Given the description of an element on the screen output the (x, y) to click on. 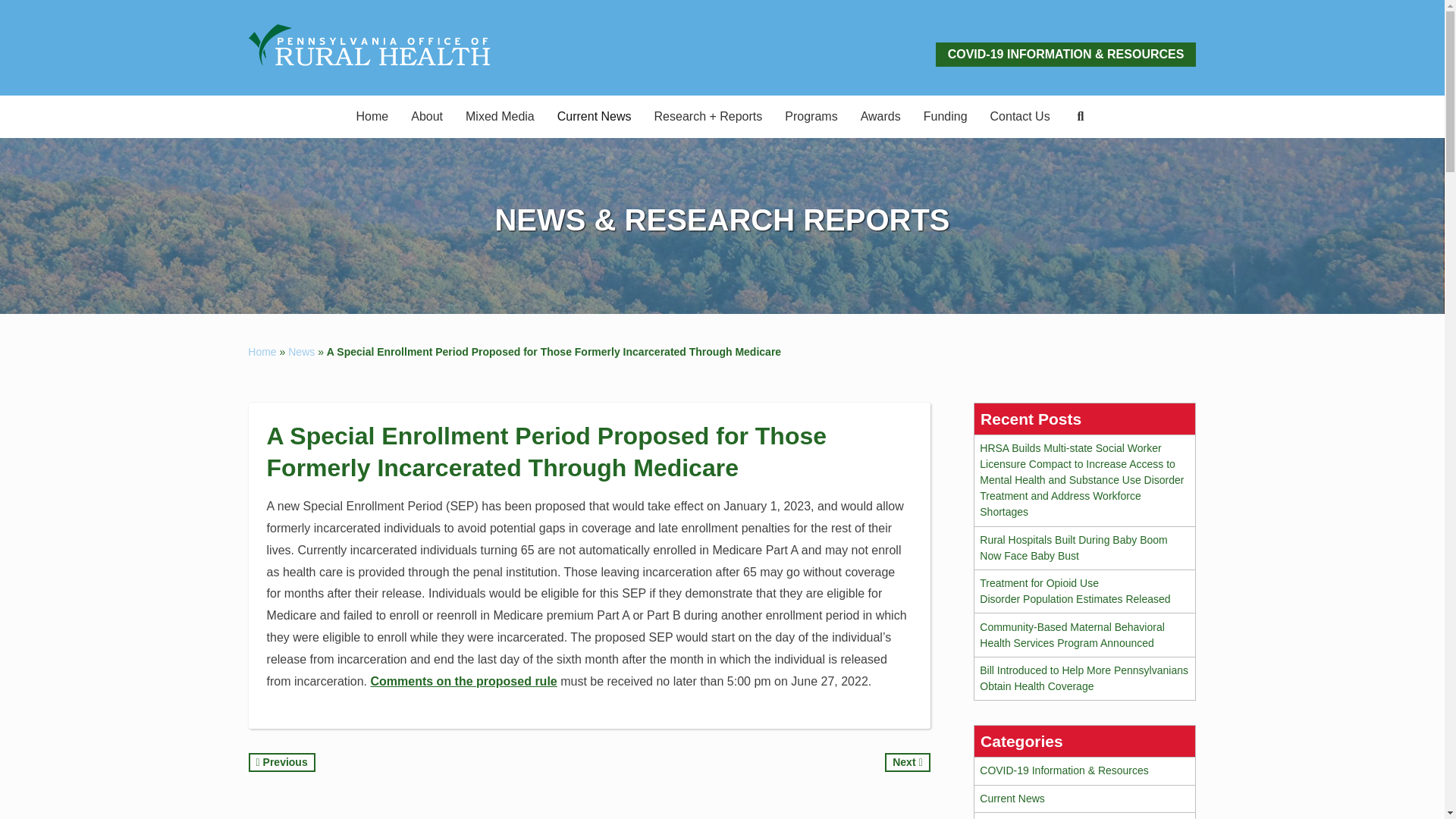
Mixed Media (500, 116)
About (426, 116)
Current News (594, 116)
Programs (810, 116)
Home (372, 116)
